Given the description of an element on the screen output the (x, y) to click on. 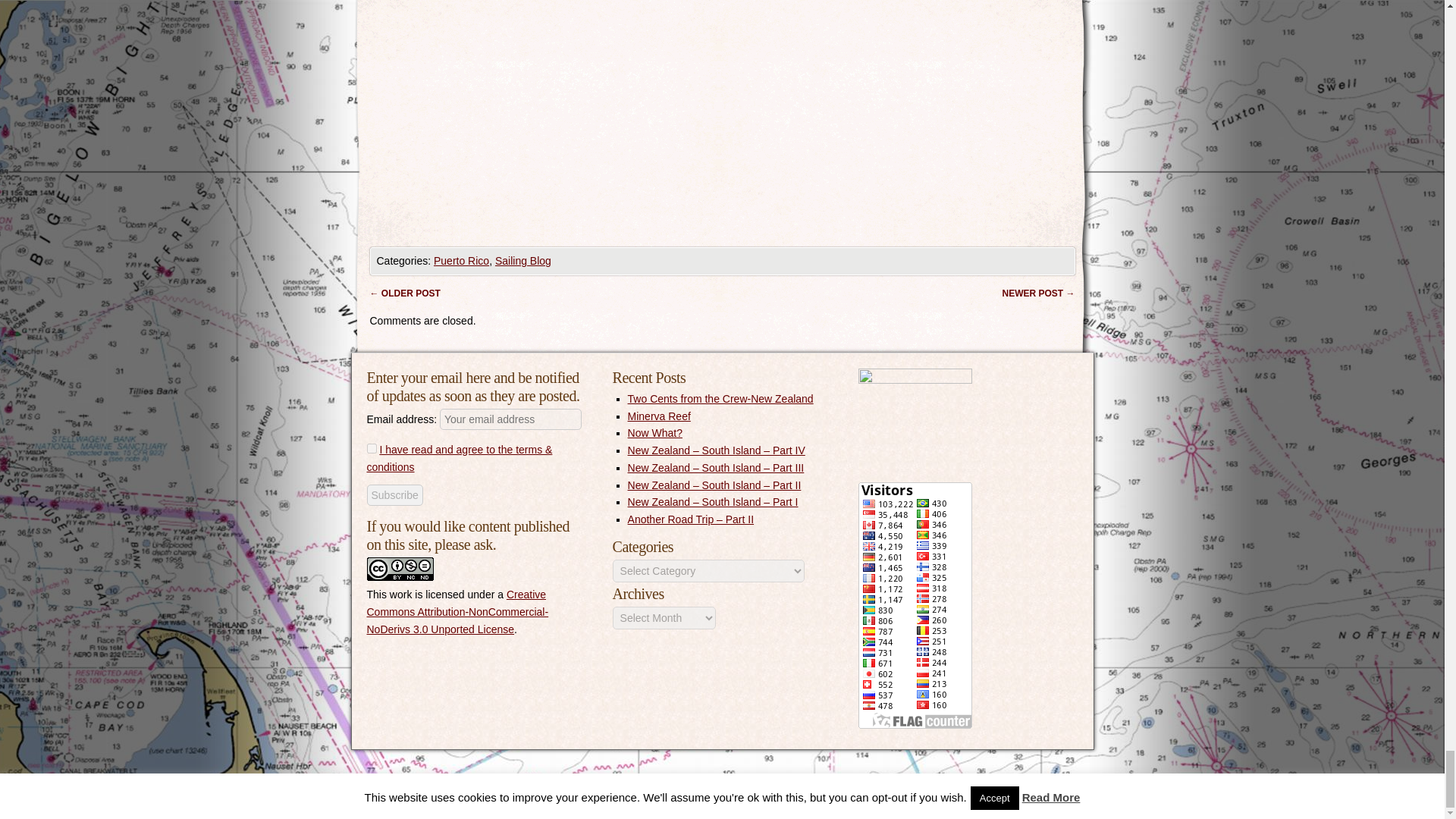
Subscribe (394, 495)
1 (371, 448)
